Given the description of an element on the screen output the (x, y) to click on. 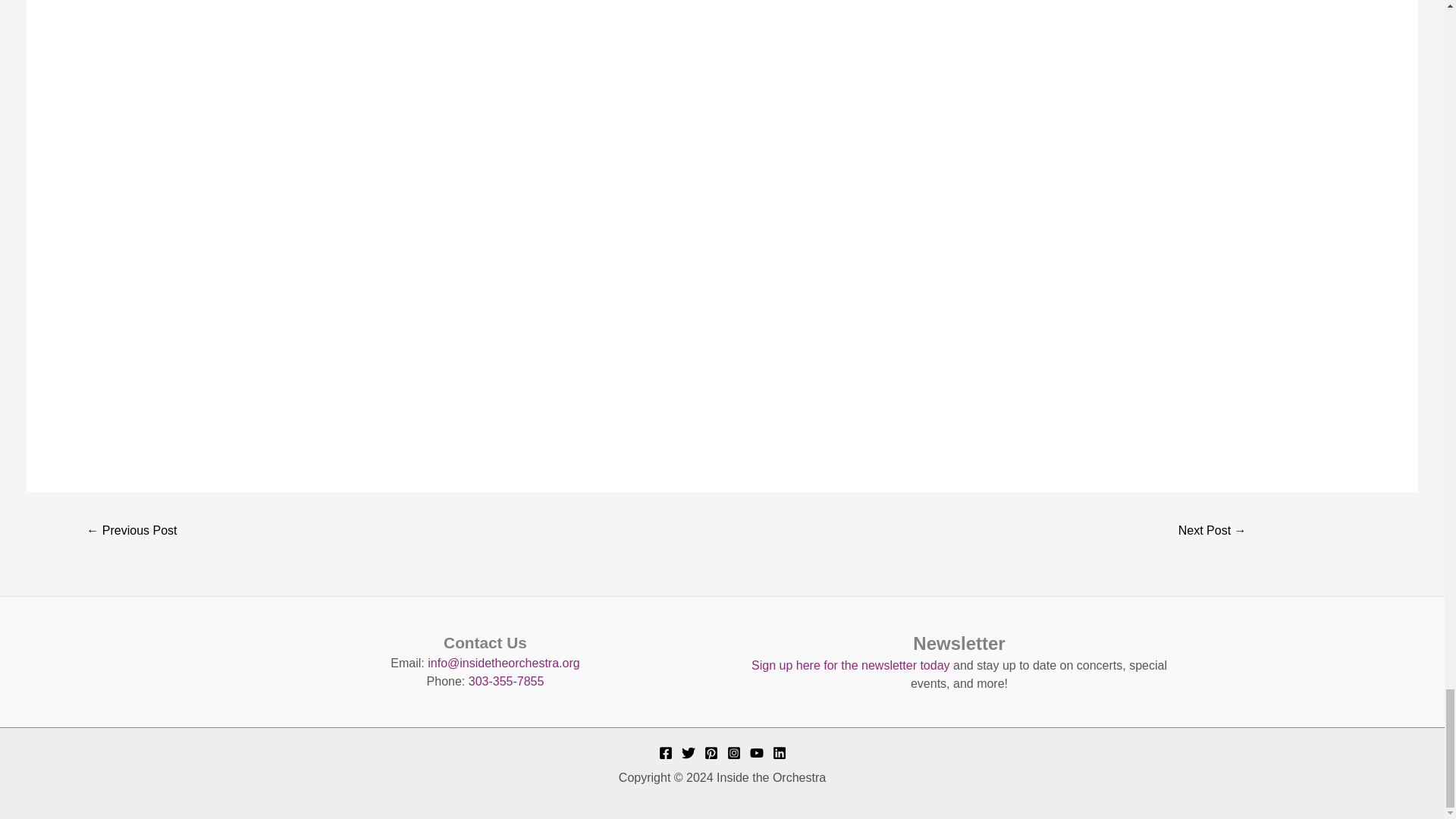
The Value of Your Dollar (131, 531)
